Given the description of an element on the screen output the (x, y) to click on. 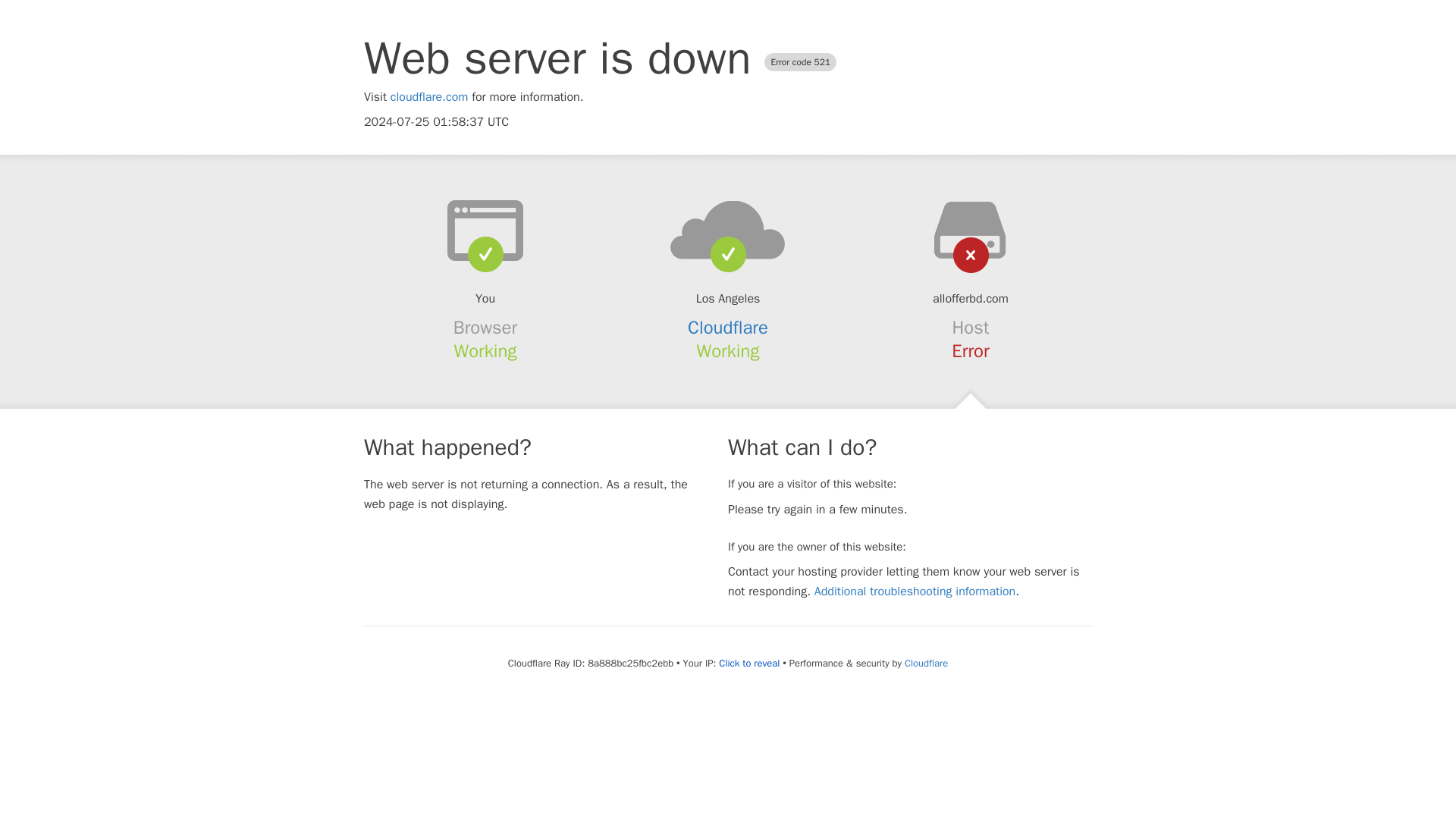
Additional troubleshooting information (913, 590)
Cloudflare (727, 327)
cloudflare.com (429, 96)
Cloudflare (925, 662)
Click to reveal (748, 663)
